Given the description of an element on the screen output the (x, y) to click on. 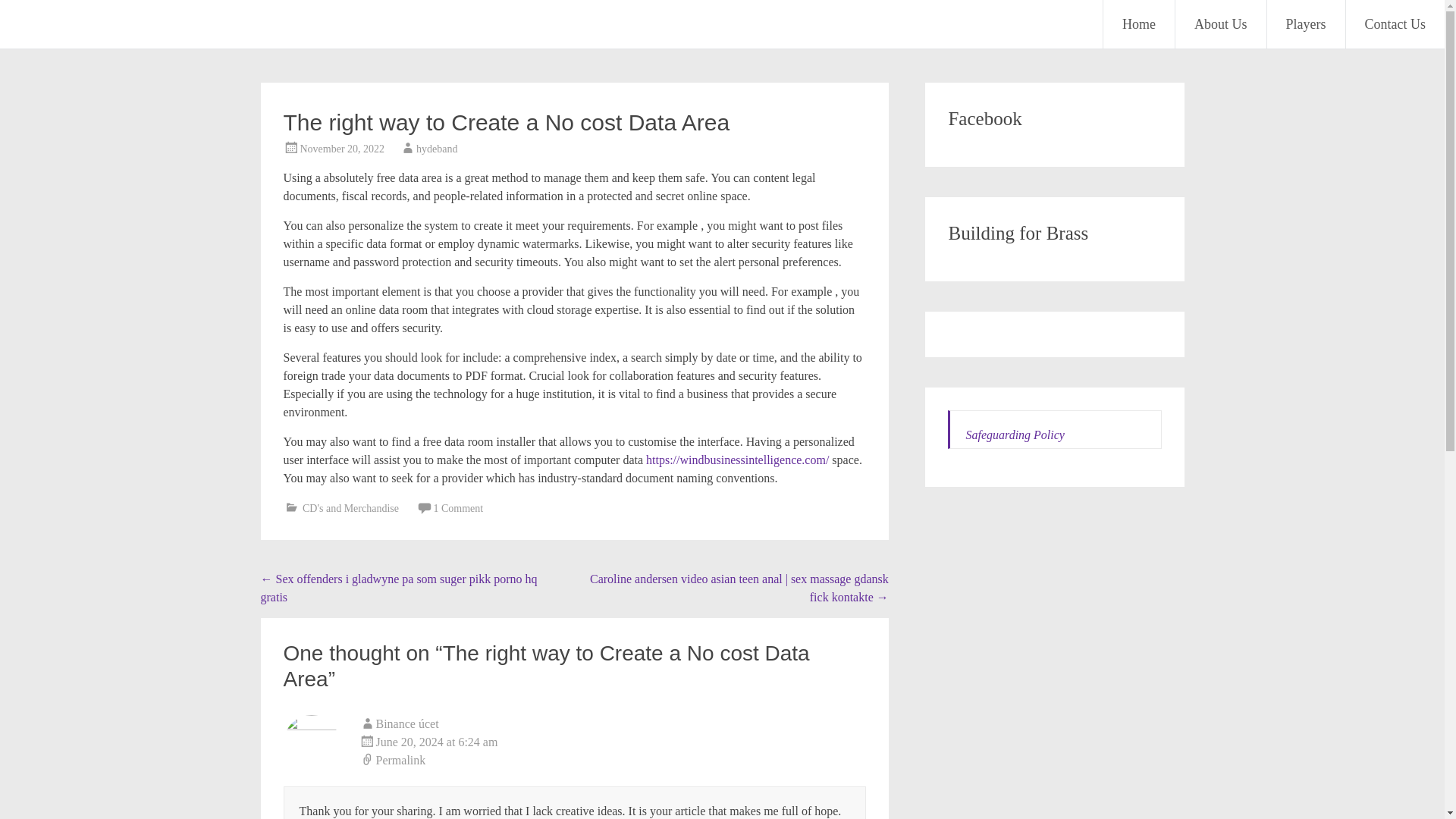
CD's and Merchandise (350, 508)
1 Comment (457, 508)
Players (1304, 24)
hydeband (436, 148)
Home (1138, 24)
About Us (1220, 24)
Hyde Band (86, 23)
Safeguarding Policy (1014, 434)
November 20, 2022 (342, 148)
Permalink (612, 760)
